Given the description of an element on the screen output the (x, y) to click on. 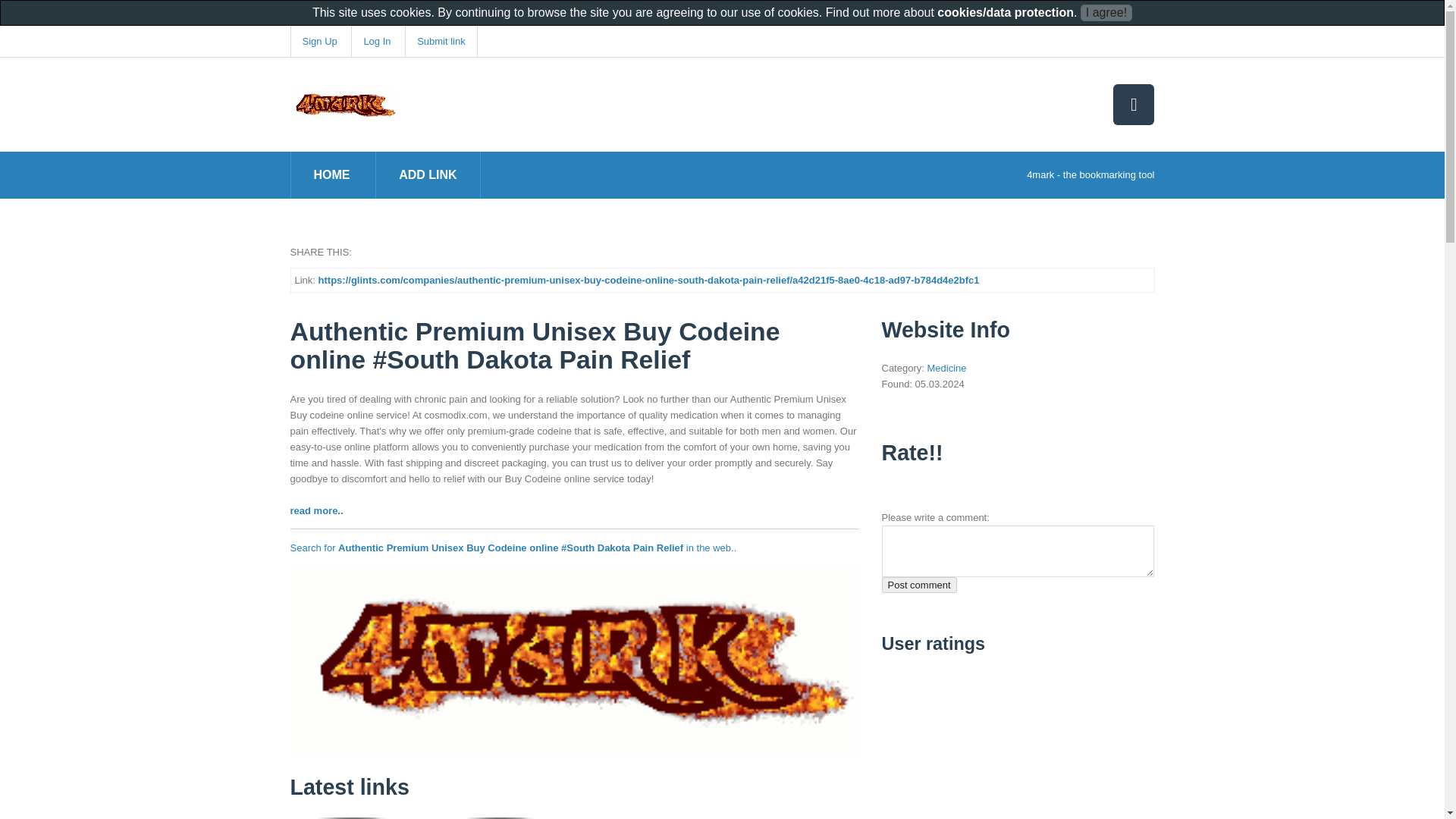
Click to view! (574, 660)
I agree! (1106, 12)
HOME (500, 818)
Post comment (332, 174)
read more.. (351, 818)
Sign Up (918, 584)
ADD LINK (315, 510)
Log In (318, 40)
Submit link (427, 174)
